Given the description of an element on the screen output the (x, y) to click on. 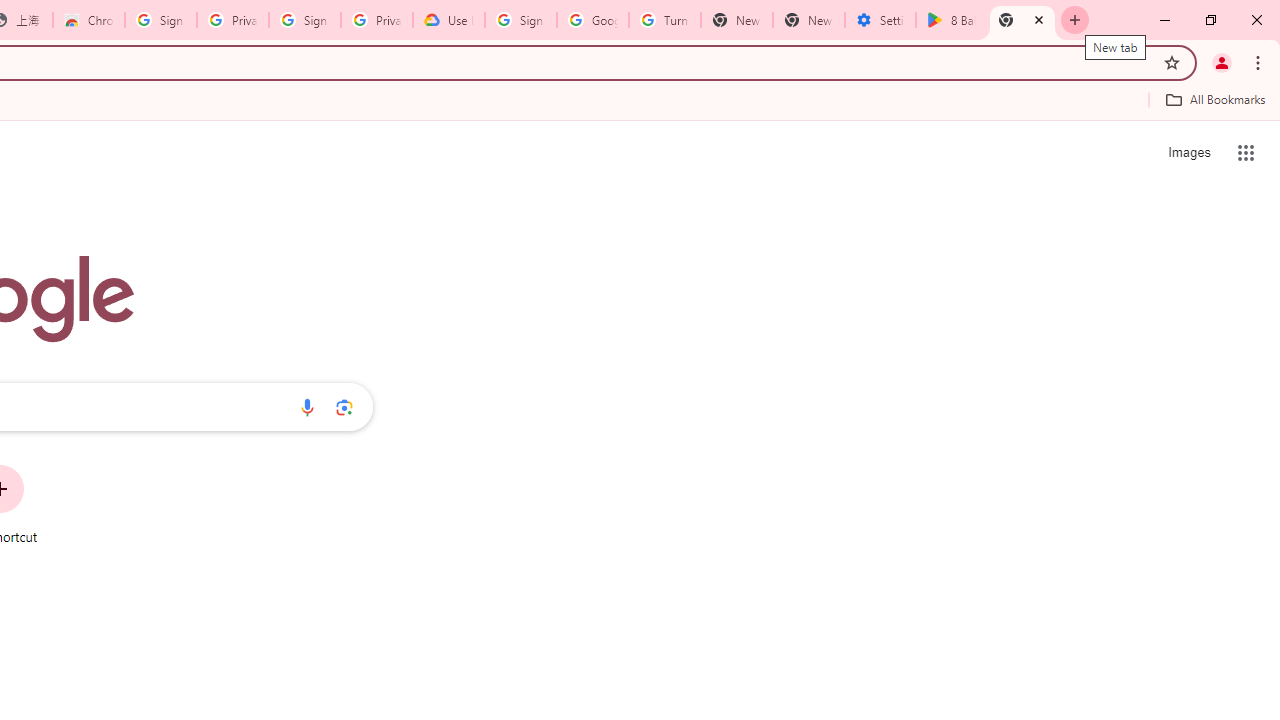
Turn cookies on or off - Computer - Google Account Help (664, 20)
8 Ball Pool - Apps on Google Play (951, 20)
Settings - System (880, 20)
Search by voice (307, 407)
Search by image (344, 407)
